Given the description of an element on the screen output the (x, y) to click on. 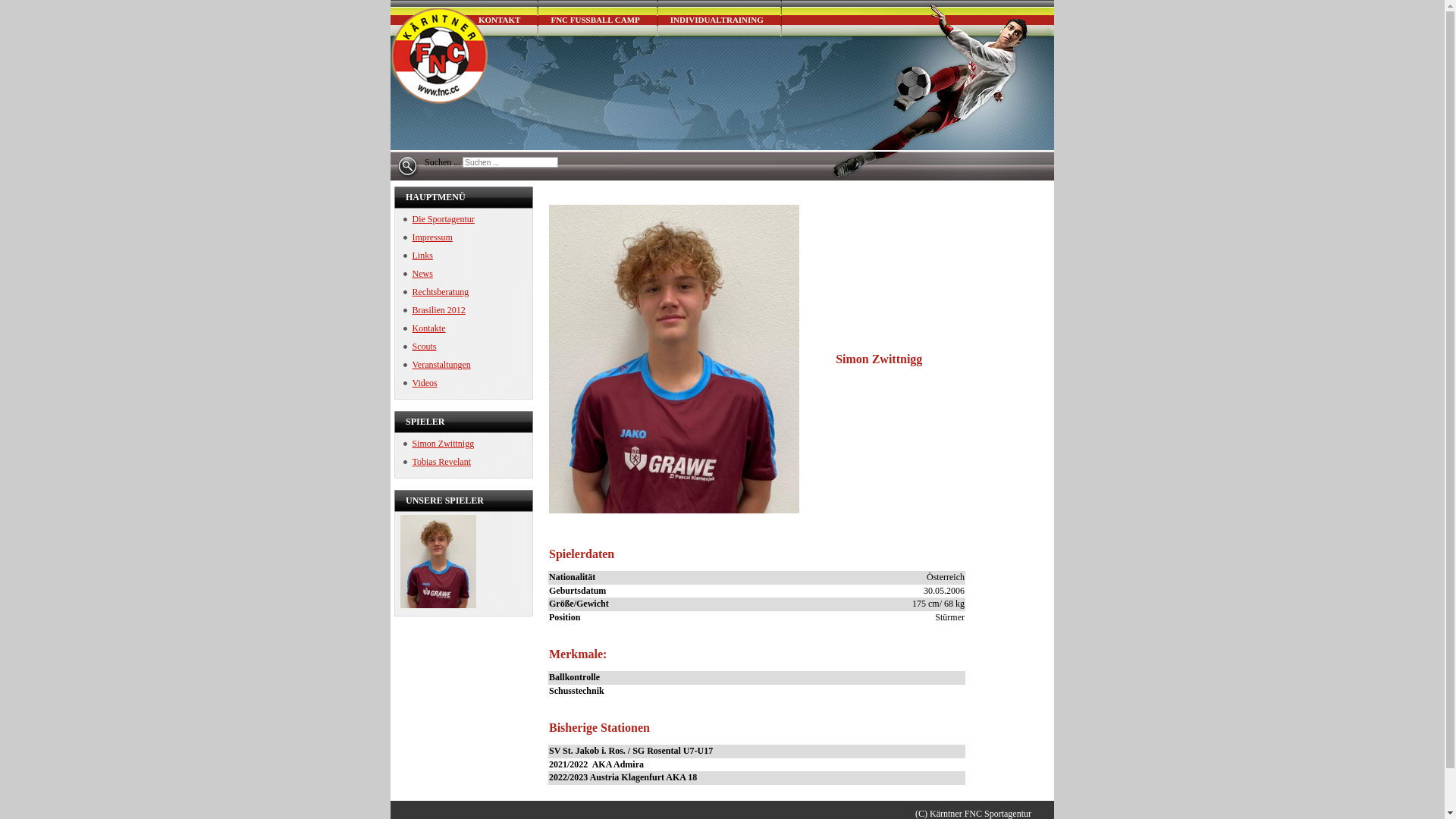
News Element type: text (418, 273)
Brasilien 2012 Element type: text (434, 309)
KONTAKT Element type: text (502, 18)
INDIVIDUALTRAINING Element type: text (719, 18)
Tobias Revelant Element type: text (436, 461)
Kontakte Element type: text (424, 328)
Scouts Element type: text (419, 346)
Simon Zwittnigg Element type: text (438, 443)
Impressum Element type: text (427, 237)
Veranstaltungen Element type: text (436, 364)
Links Element type: text (418, 255)
Rechtsberatung Element type: text (436, 291)
Die Sportagentur Element type: text (438, 218)
Videos Element type: text (420, 382)
FNC FUSSBALL CAMP Element type: text (597, 18)
